Given the description of an element on the screen output the (x, y) to click on. 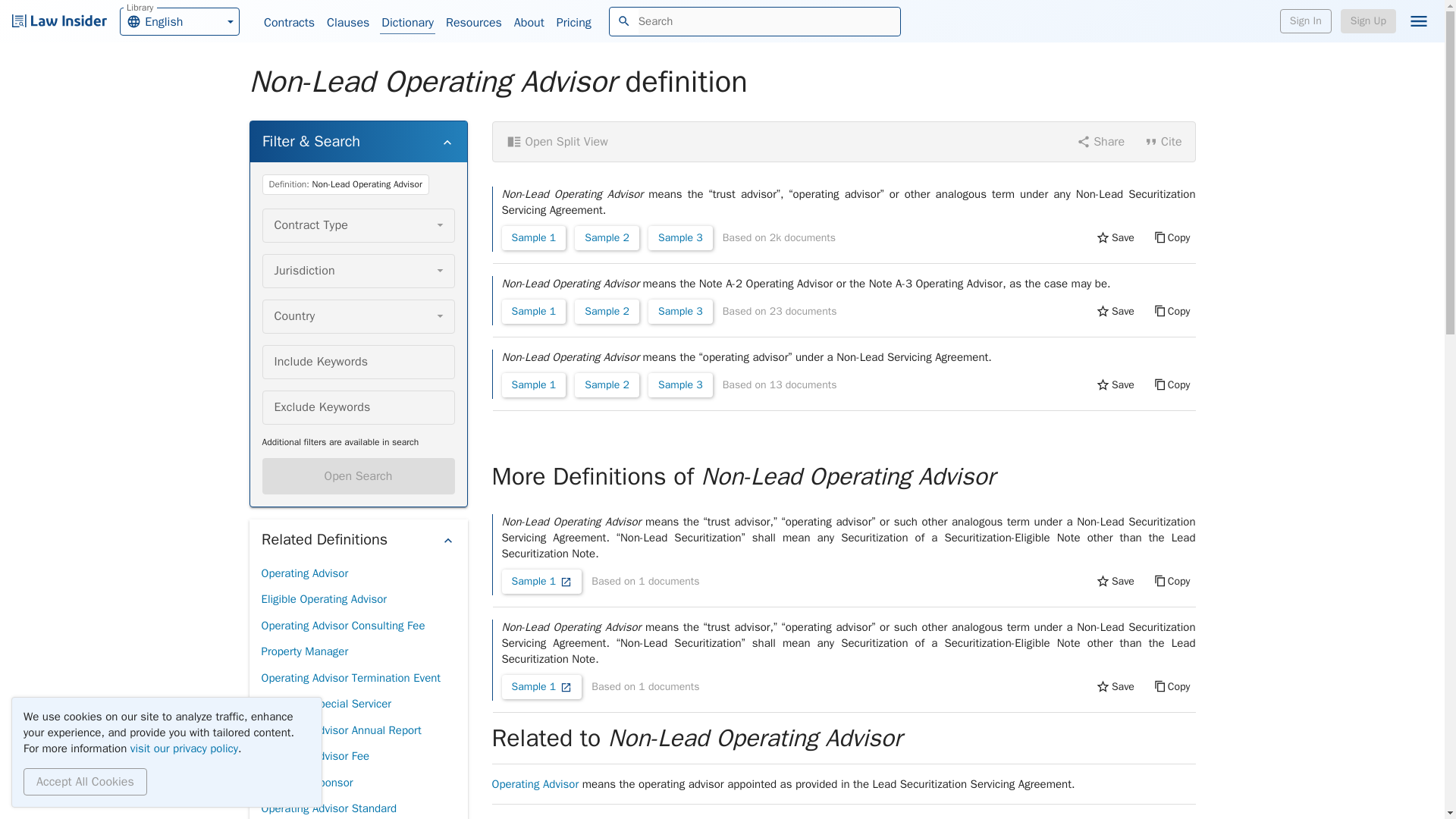
Contracts (288, 23)
Sign Up (1368, 21)
Accept All Cookies (85, 781)
Non-Lead Special Servicer (325, 704)
Operating Advisor Fee (314, 755)
Dictionary (407, 23)
About (529, 23)
Operating Advisor Consulting Fee (342, 625)
Pricing (573, 23)
Sign In (1305, 21)
